Given the description of an element on the screen output the (x, y) to click on. 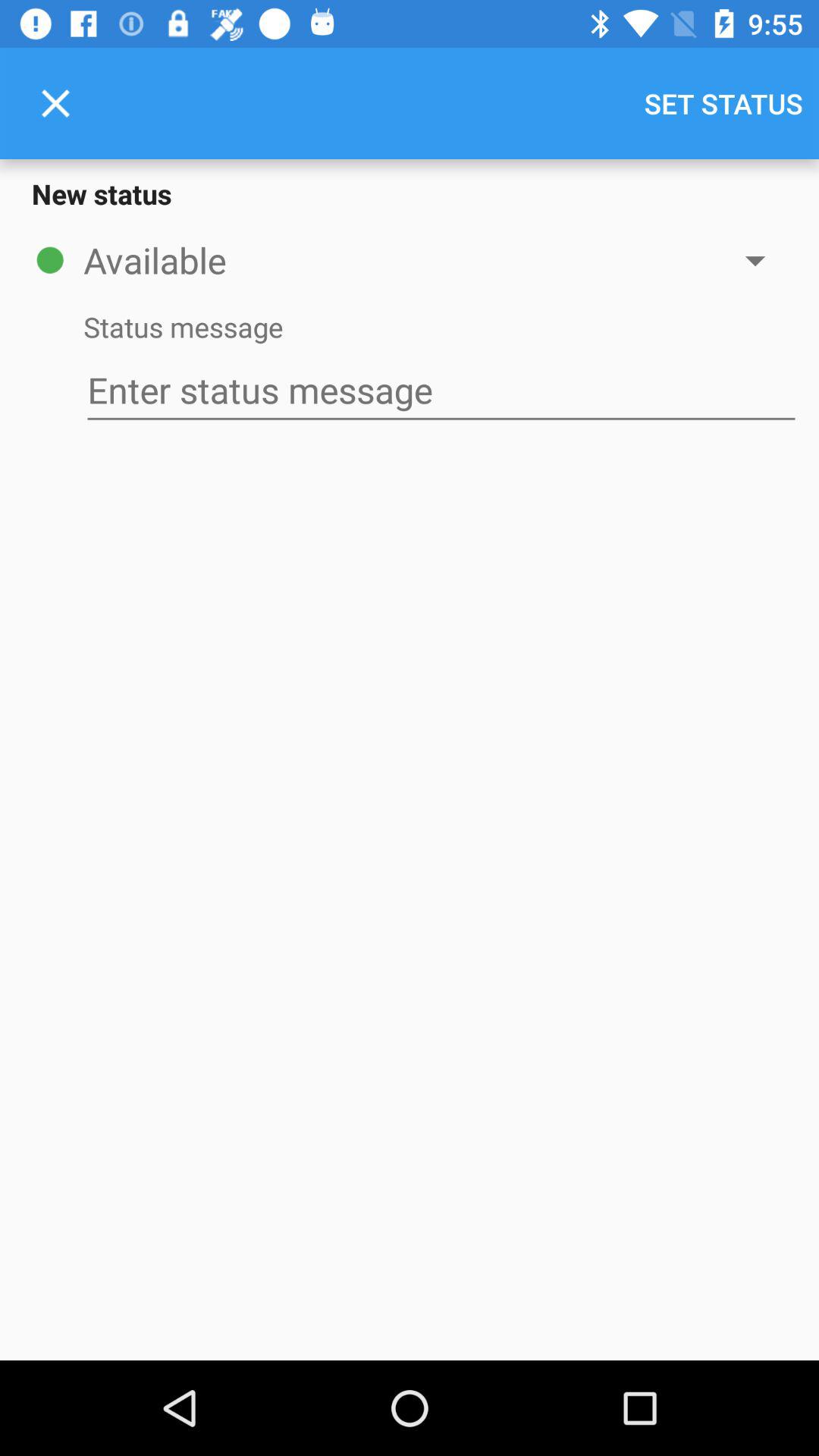
press the icon at the top right corner (723, 103)
